Given the description of an element on the screen output the (x, y) to click on. 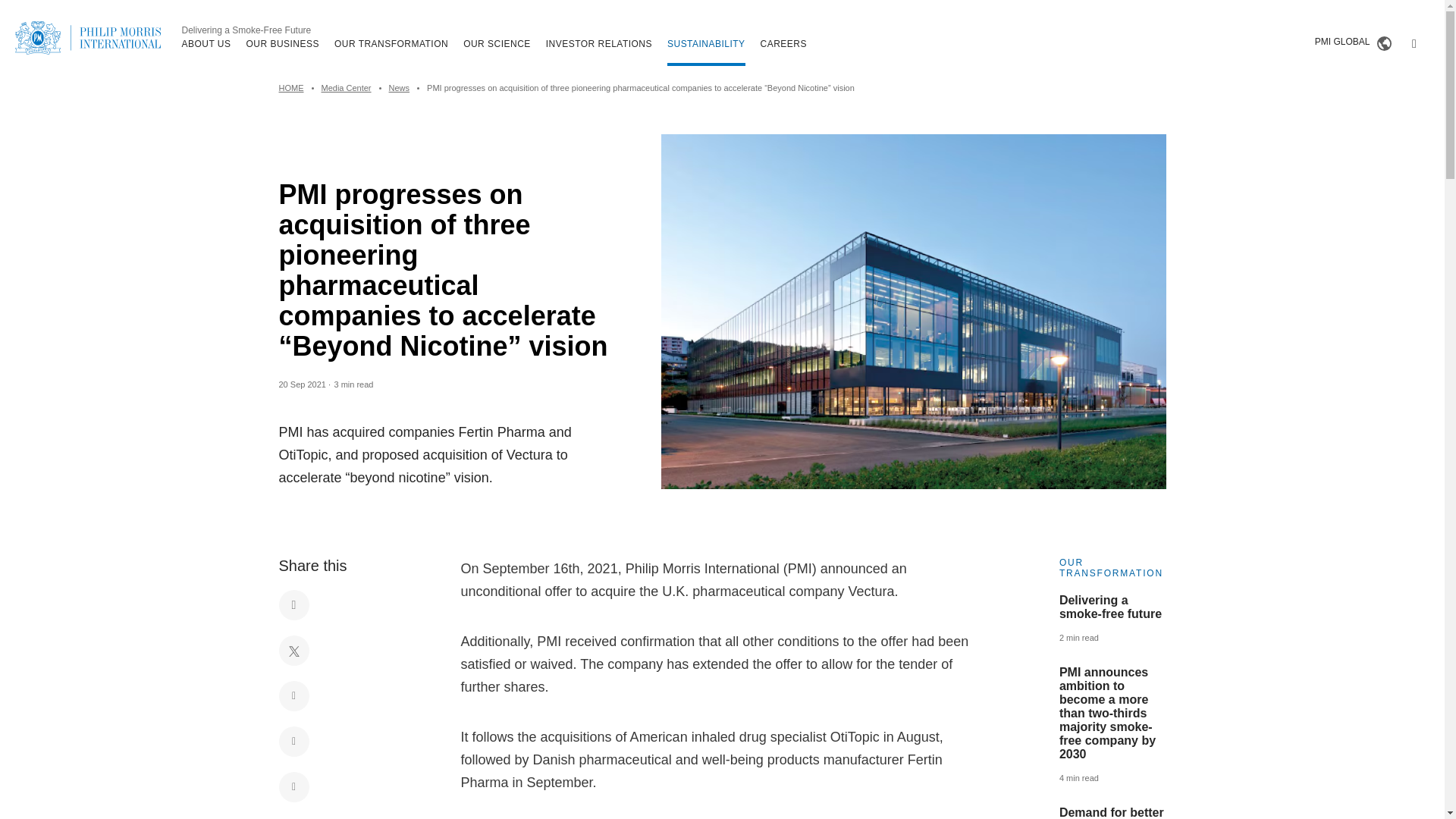
INVESTOR RELATIONS (599, 43)
SUSTAINABILITY (705, 43)
OUR BUSINESS (282, 43)
OUR TRANSFORMATION (391, 43)
OUR SCIENCE (497, 43)
ABOUT US (206, 43)
